Given the description of an element on the screen output the (x, y) to click on. 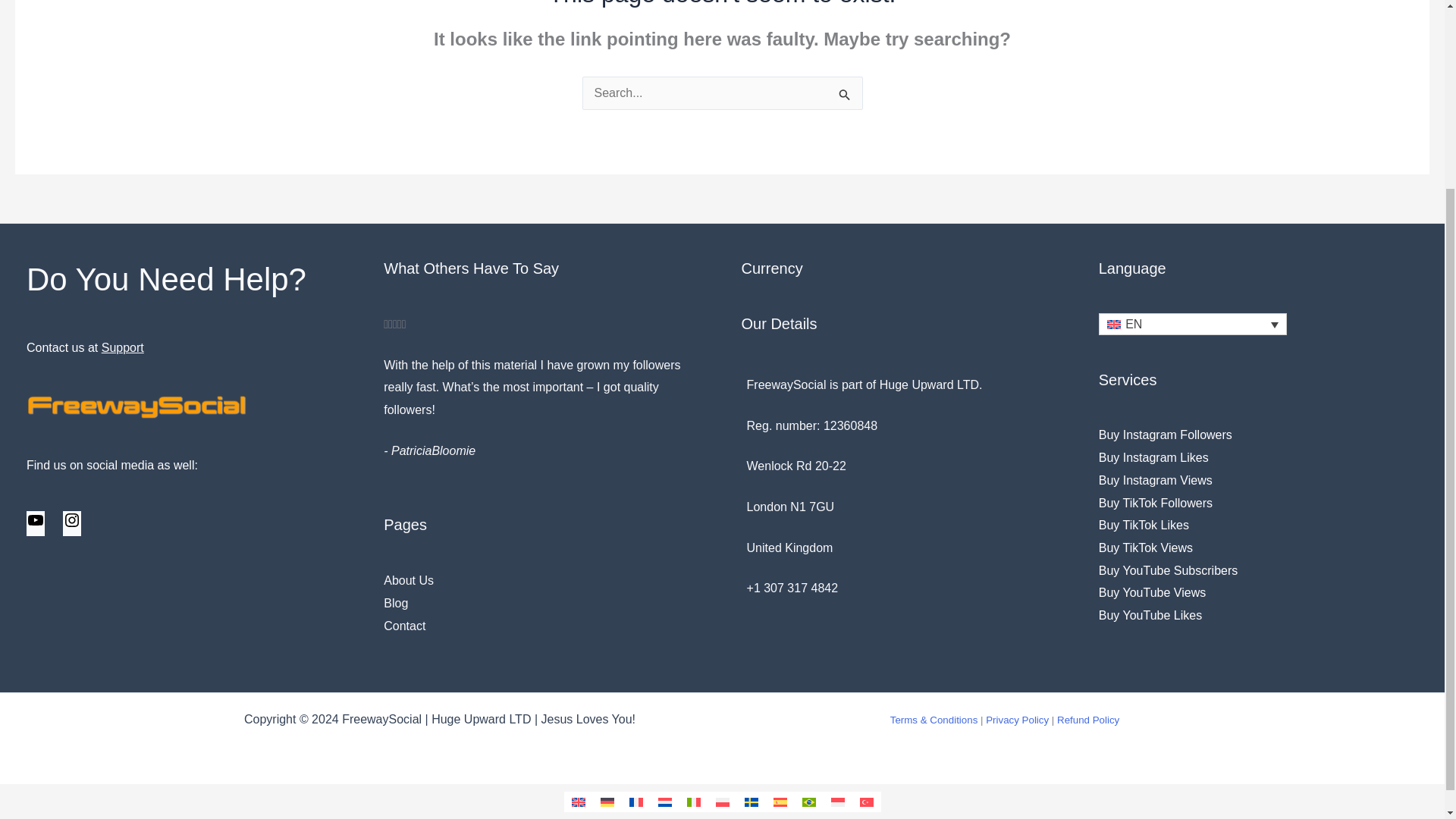
Search (844, 103)
Search (844, 103)
